Given the description of an element on the screen output the (x, y) to click on. 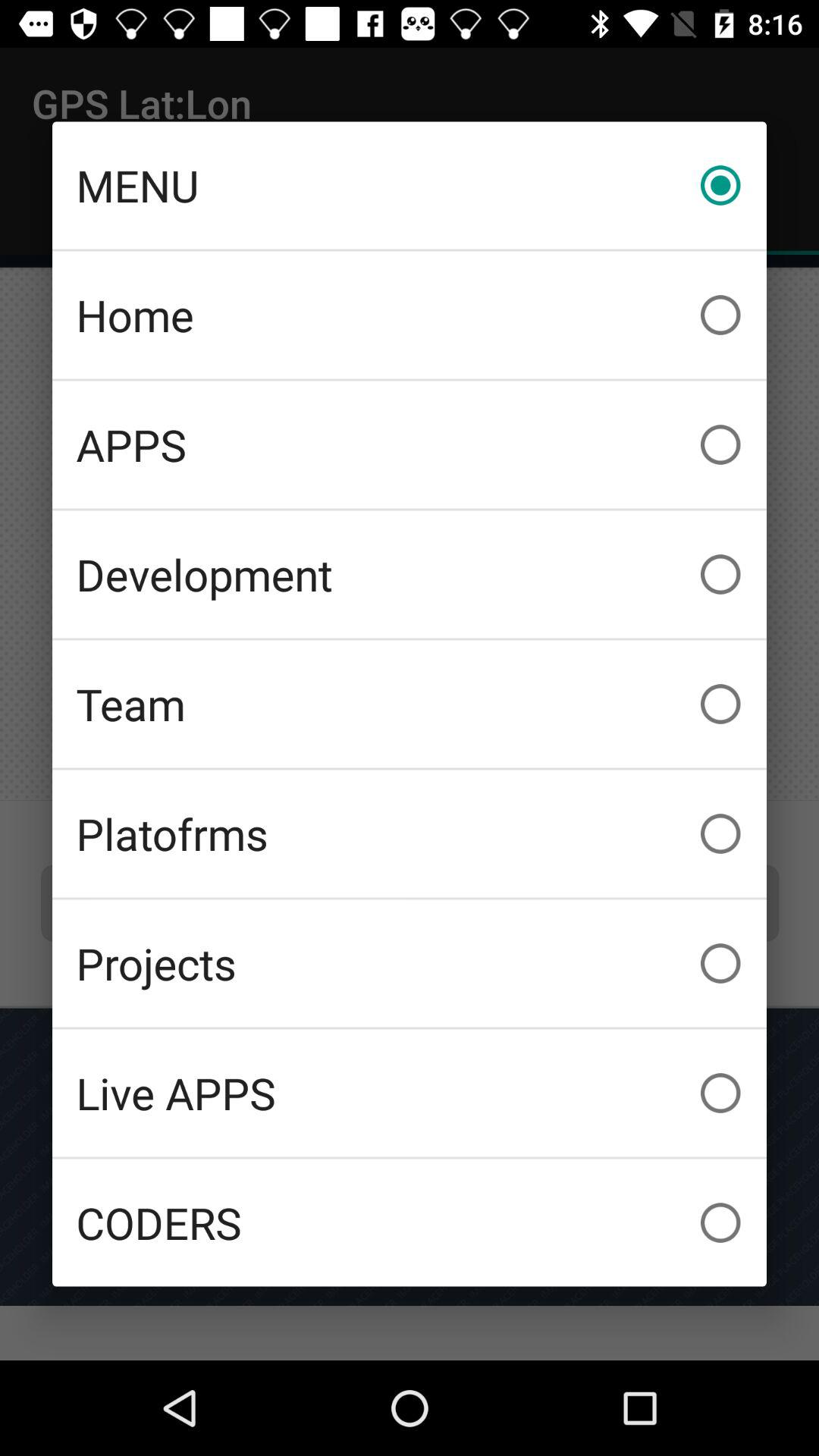
launch the icon below development (409, 703)
